Given the description of an element on the screen output the (x, y) to click on. 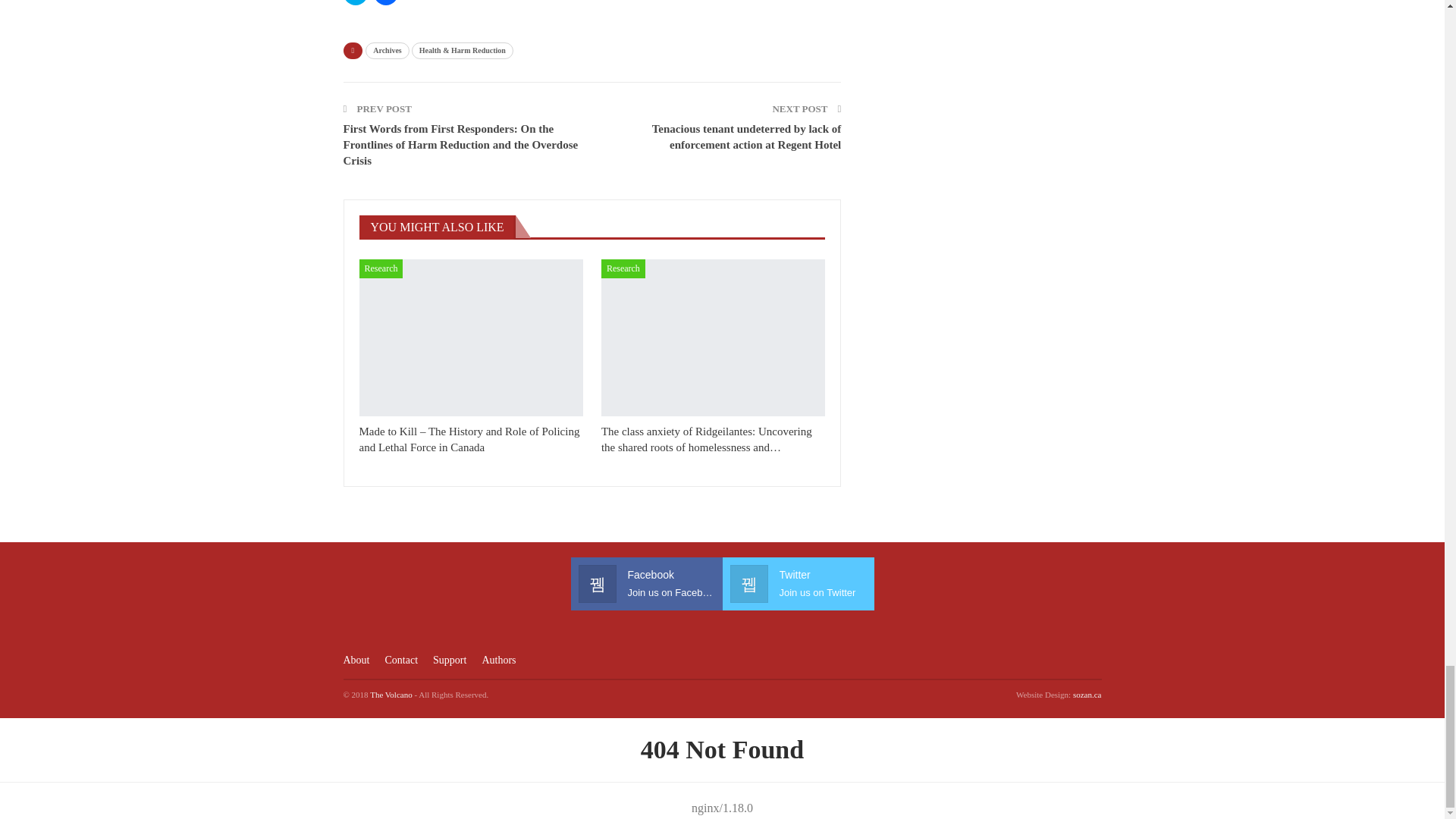
Research (623, 268)
Archives (387, 50)
Click to share on Twitter (354, 2)
Click to share on Facebook (384, 2)
Research (381, 268)
